Given the description of an element on the screen output the (x, y) to click on. 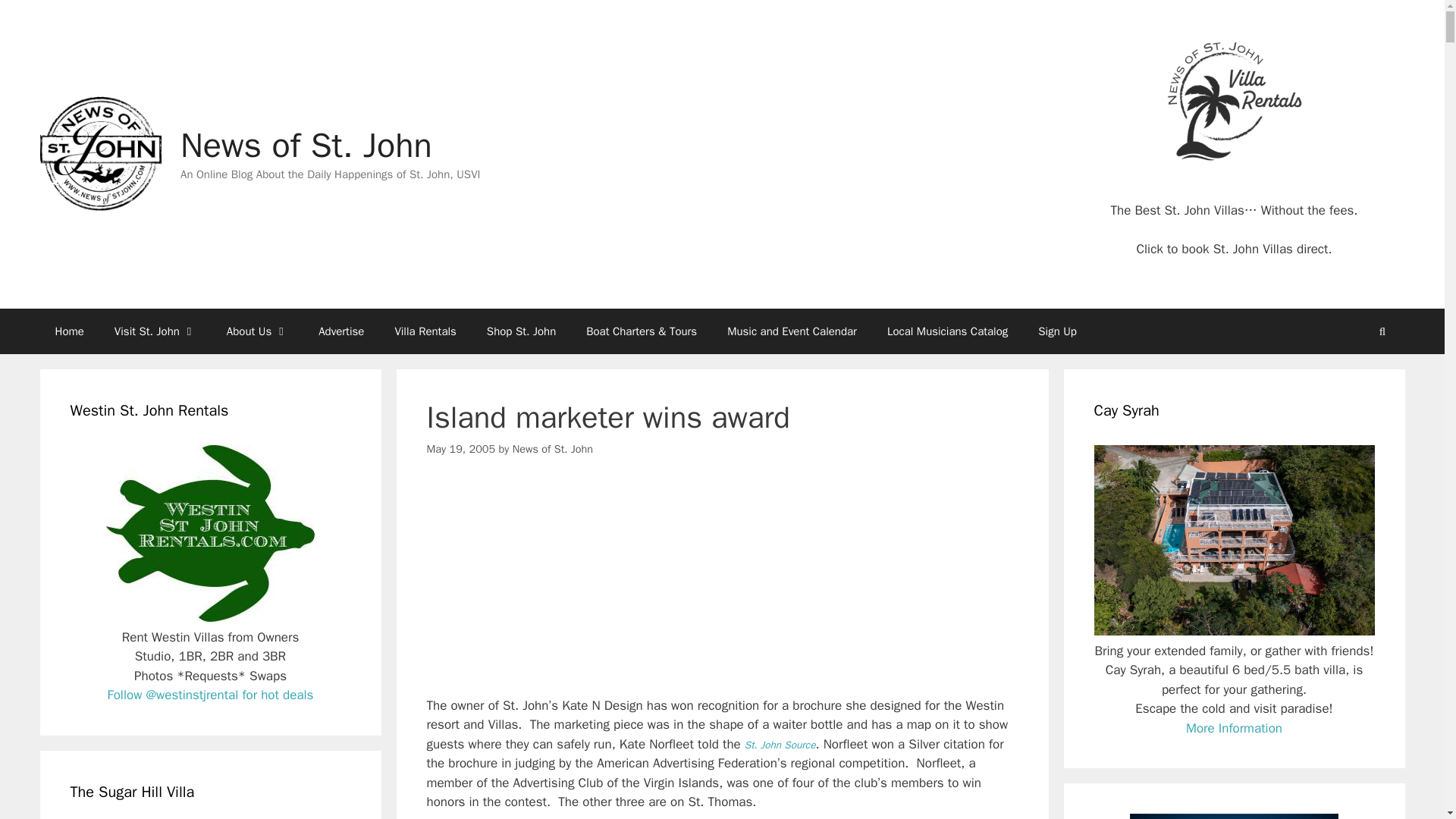
News of St. John (306, 145)
About Us (256, 330)
Music and Event Calendar (791, 330)
Shop St. John (520, 330)
News of St. John (99, 153)
St. John Source (779, 744)
Villa Rentals (424, 330)
News of St. John (552, 448)
Click to book St. John Villas direct. (1233, 248)
Home (69, 330)
12:53 pm (460, 448)
May 19, 2005 (460, 448)
Advertise (340, 330)
View all posts by News of St. John (552, 448)
Advertisement (721, 590)
